Given the description of an element on the screen output the (x, y) to click on. 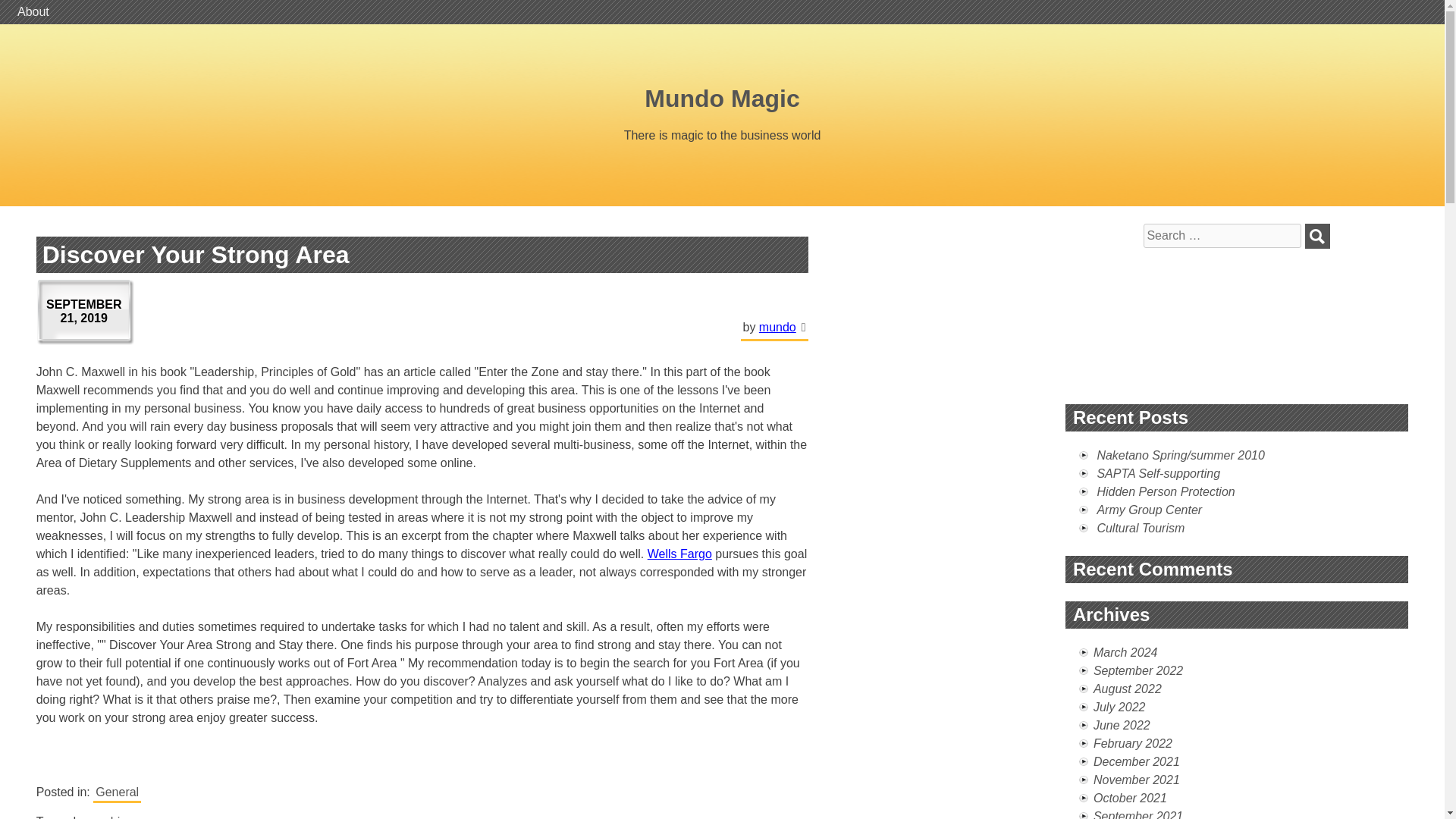
Search (1317, 235)
mundo (777, 327)
coaching (108, 816)
March 2024 (1125, 652)
General (117, 792)
Search (1317, 235)
About (33, 12)
Mundo Magic (722, 98)
July 2022 (1119, 707)
September 2021 (1137, 814)
October 2021 (1130, 797)
November 2021 (1136, 779)
SEPTEMBER 21, 2019 (85, 311)
December 2021 (1136, 761)
SAPTA Self-supporting (1158, 472)
